Given the description of an element on the screen output the (x, y) to click on. 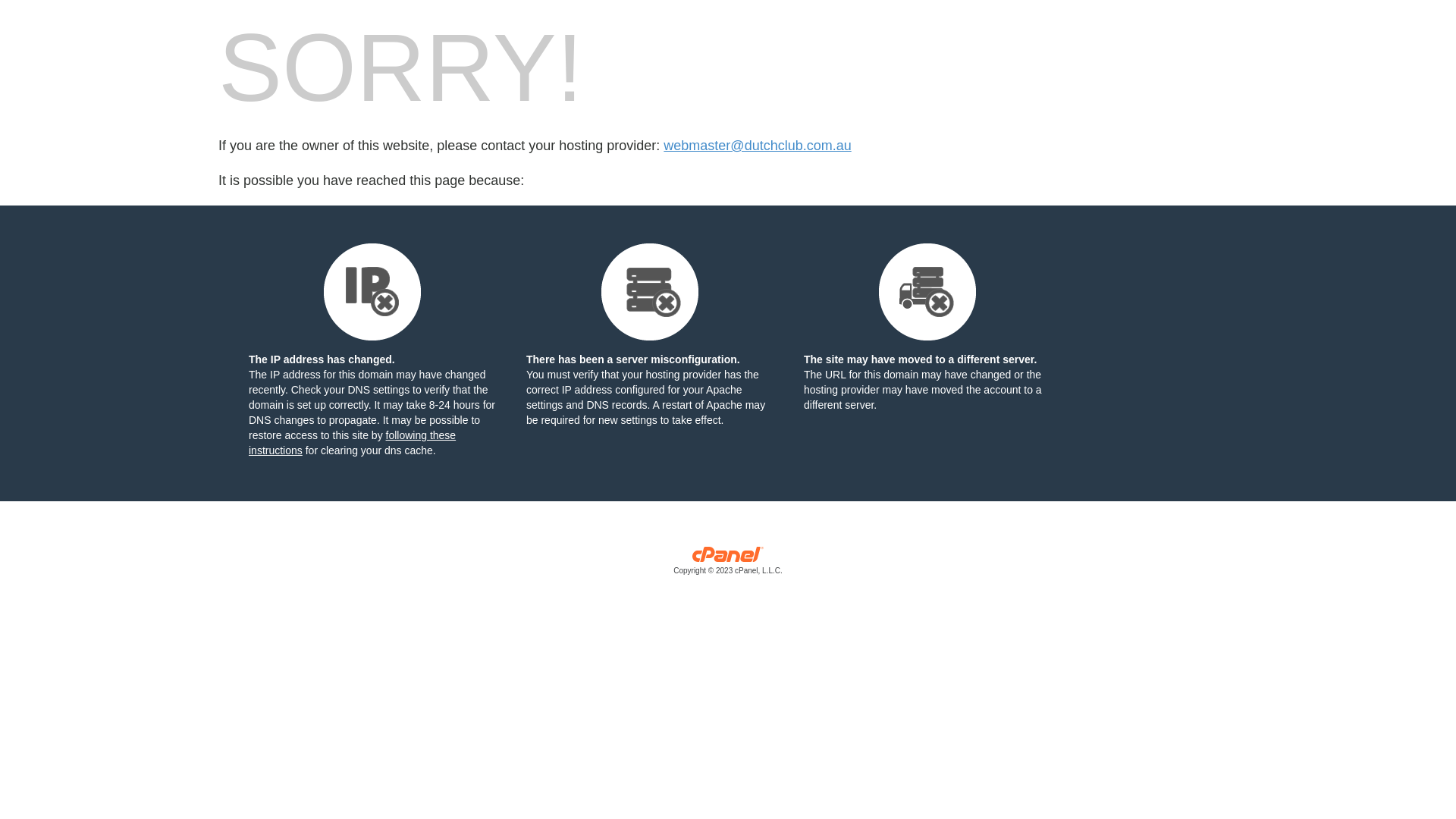
webmaster@dutchclub.com.au Element type: text (756, 145)
following these instructions Element type: text (351, 442)
